Given the description of an element on the screen output the (x, y) to click on. 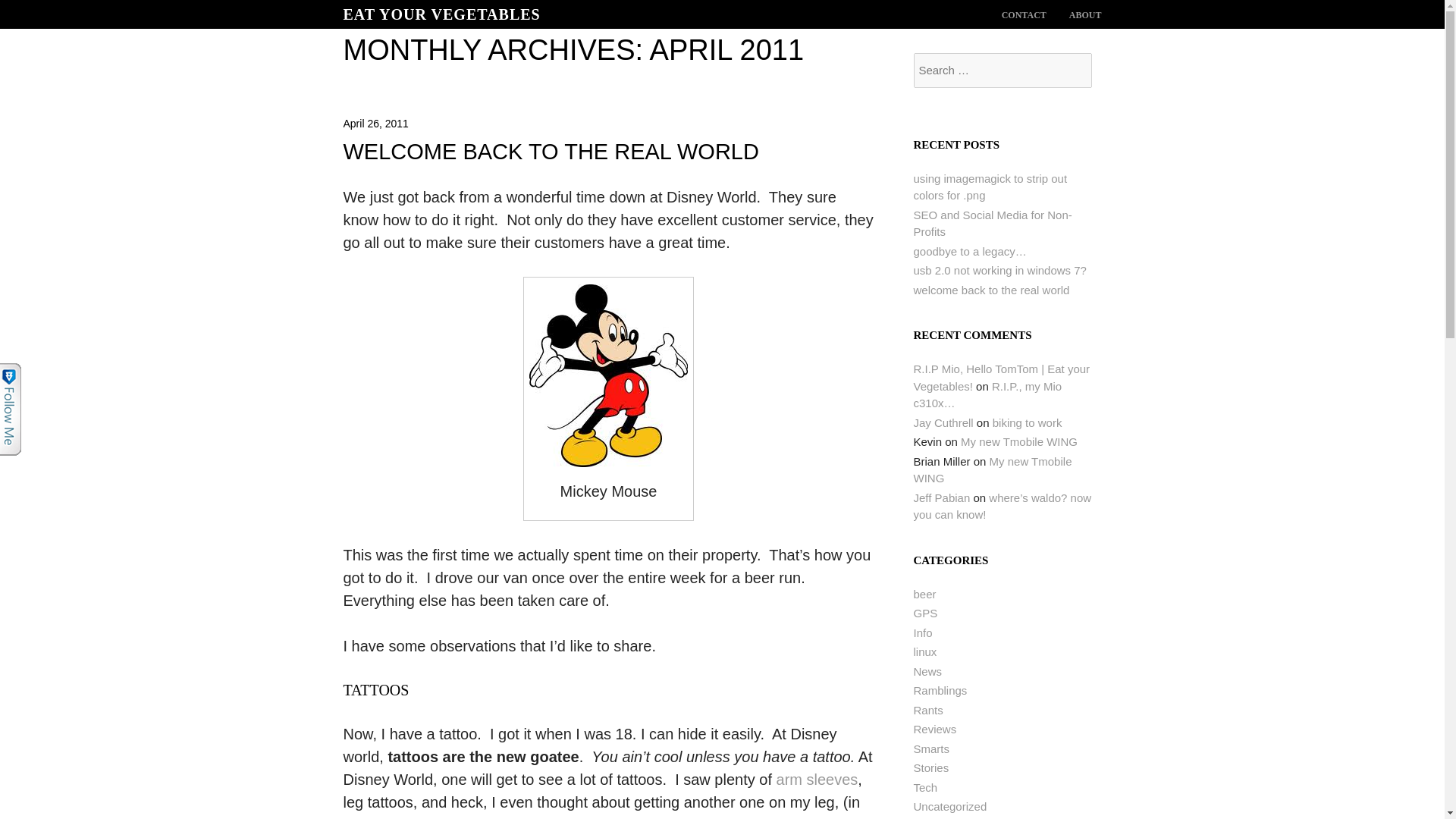
CONTACT (1023, 14)
Stories (930, 767)
Some good stories. (930, 767)
usb 2.0 not working in windows 7? (999, 269)
welcome back to the real world (990, 289)
GPS (924, 612)
Ramblings (939, 689)
using imagemagick to strip out colors for .png (989, 186)
Cool things to do and know. (921, 632)
My new Tmobile WING (991, 470)
My new Tmobile WING (1018, 440)
biking to work (1027, 422)
Just me and my mouth. (939, 689)
Uncategorized (949, 806)
ABOUT (1085, 14)
